Given the description of an element on the screen output the (x, y) to click on. 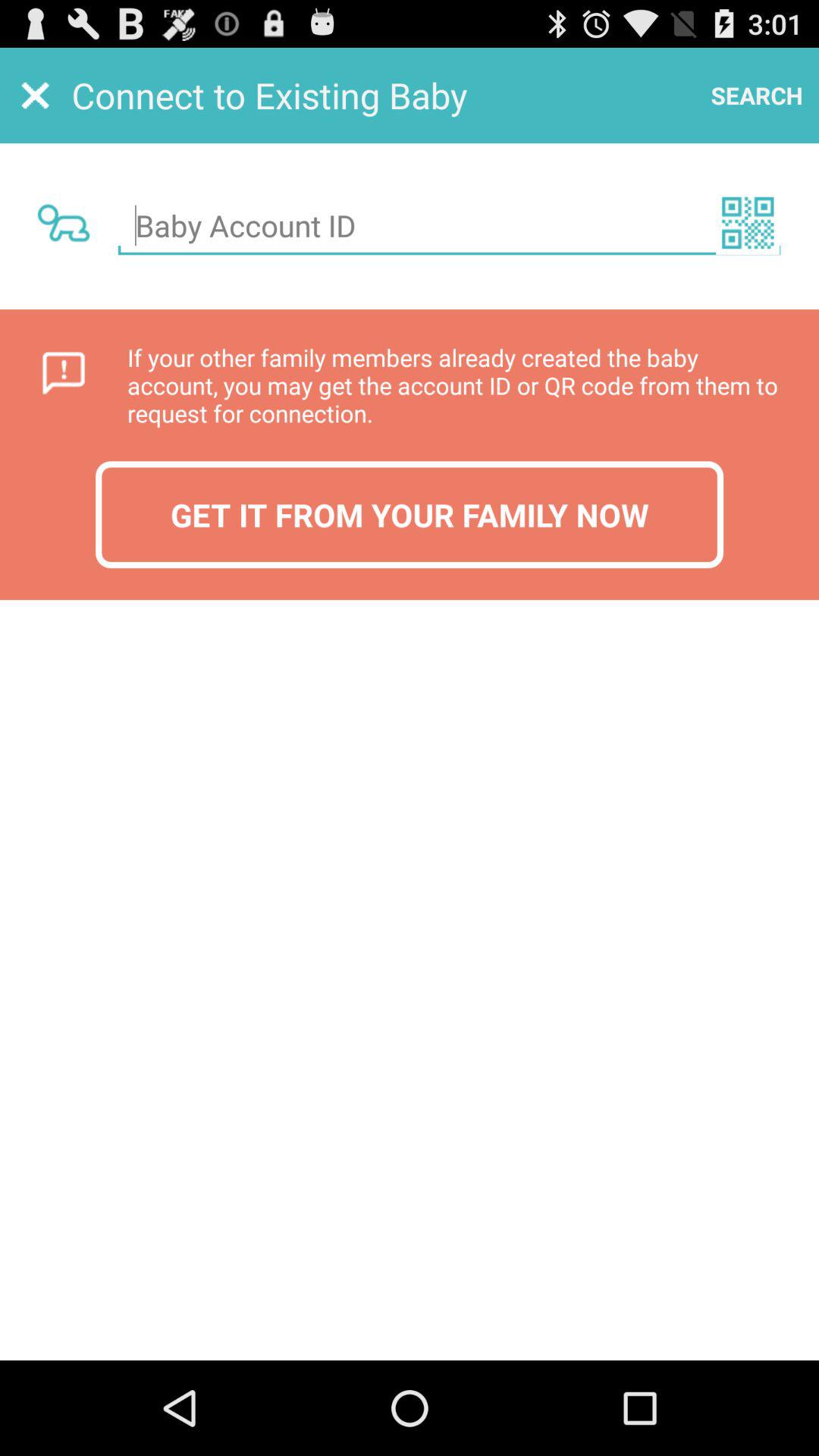
enter text (449, 226)
